Given the description of an element on the screen output the (x, y) to click on. 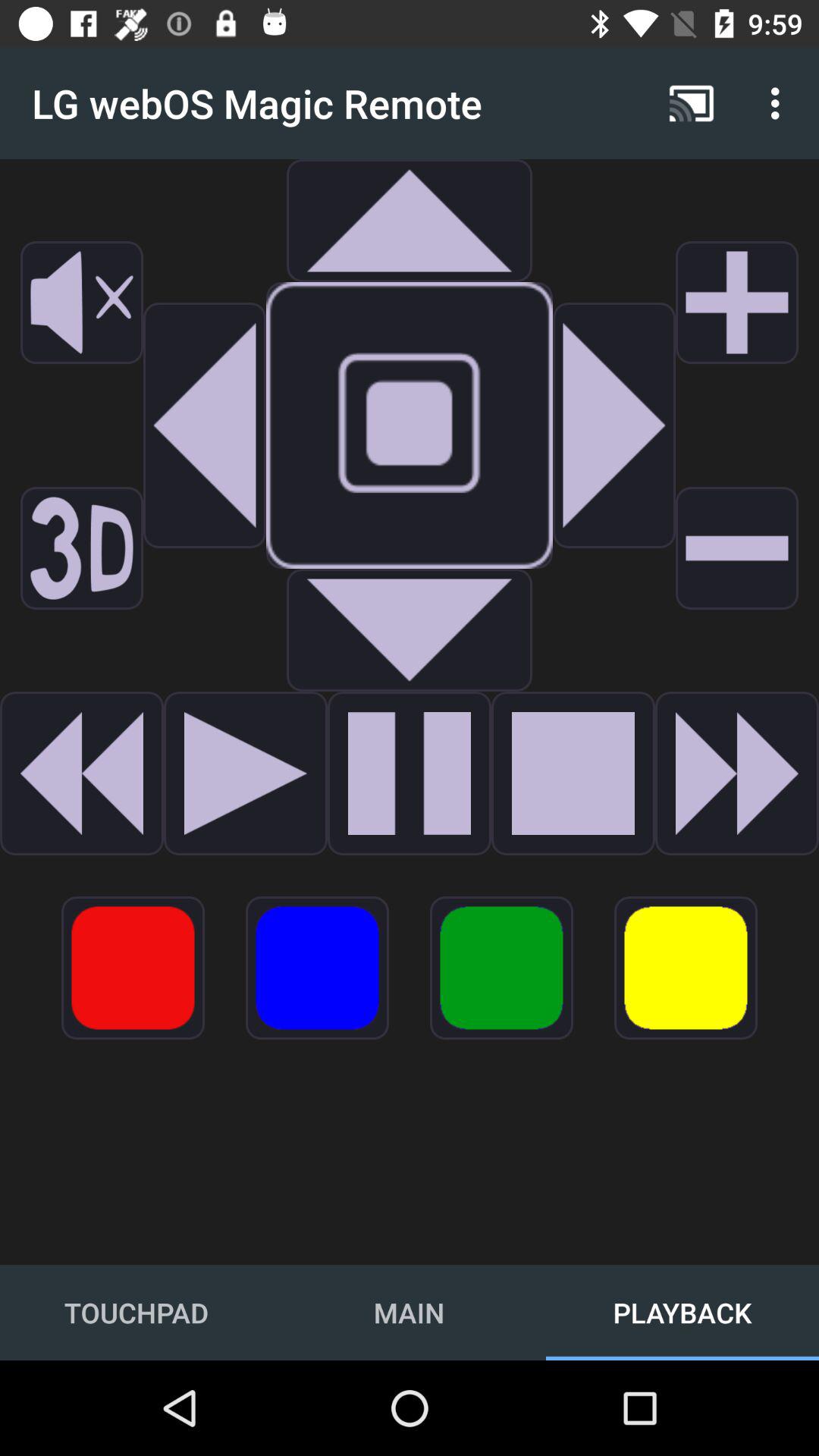
adding option (736, 302)
